Given the description of an element on the screen output the (x, y) to click on. 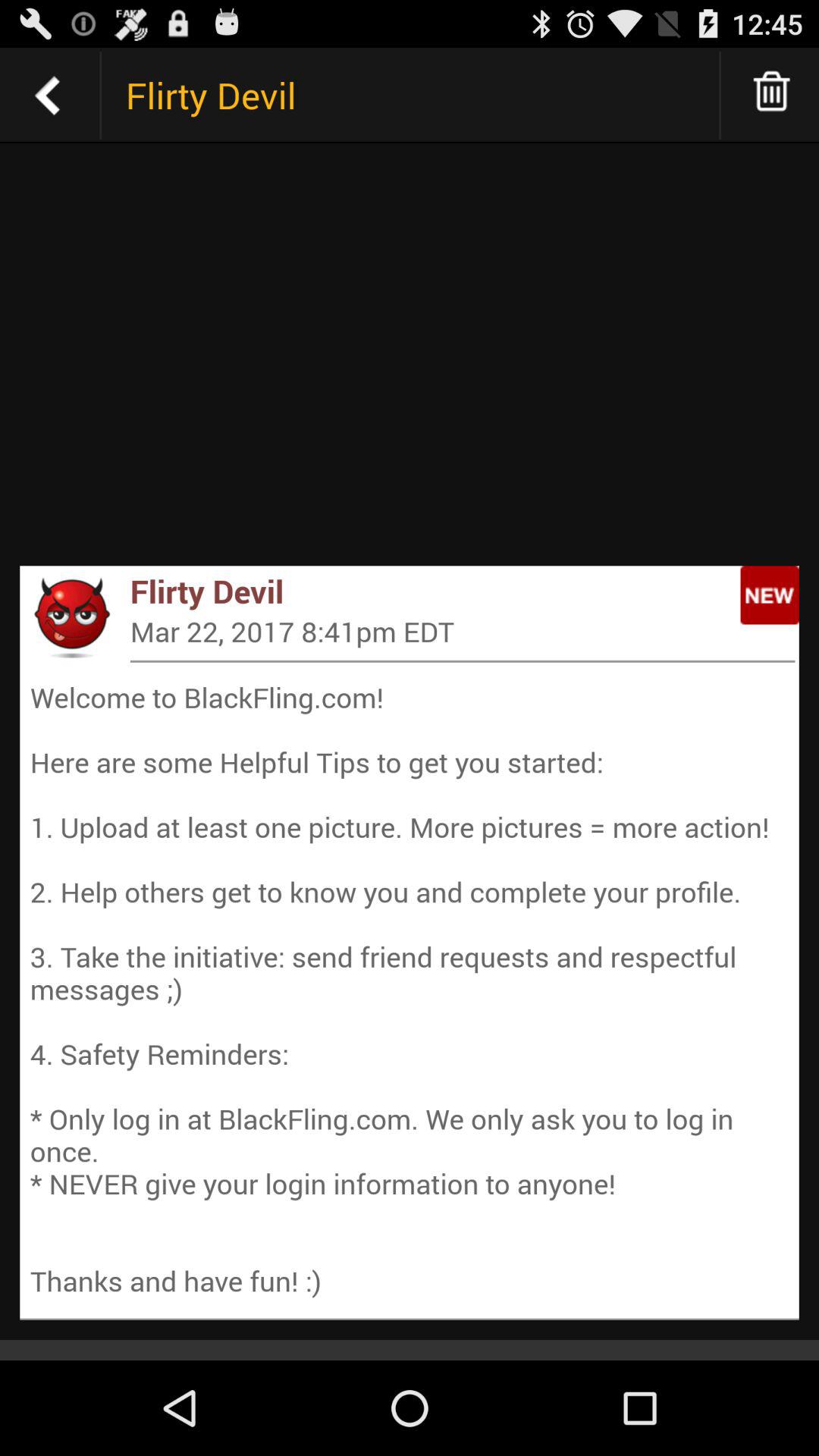
press item on the right (769, 594)
